Given the description of an element on the screen output the (x, y) to click on. 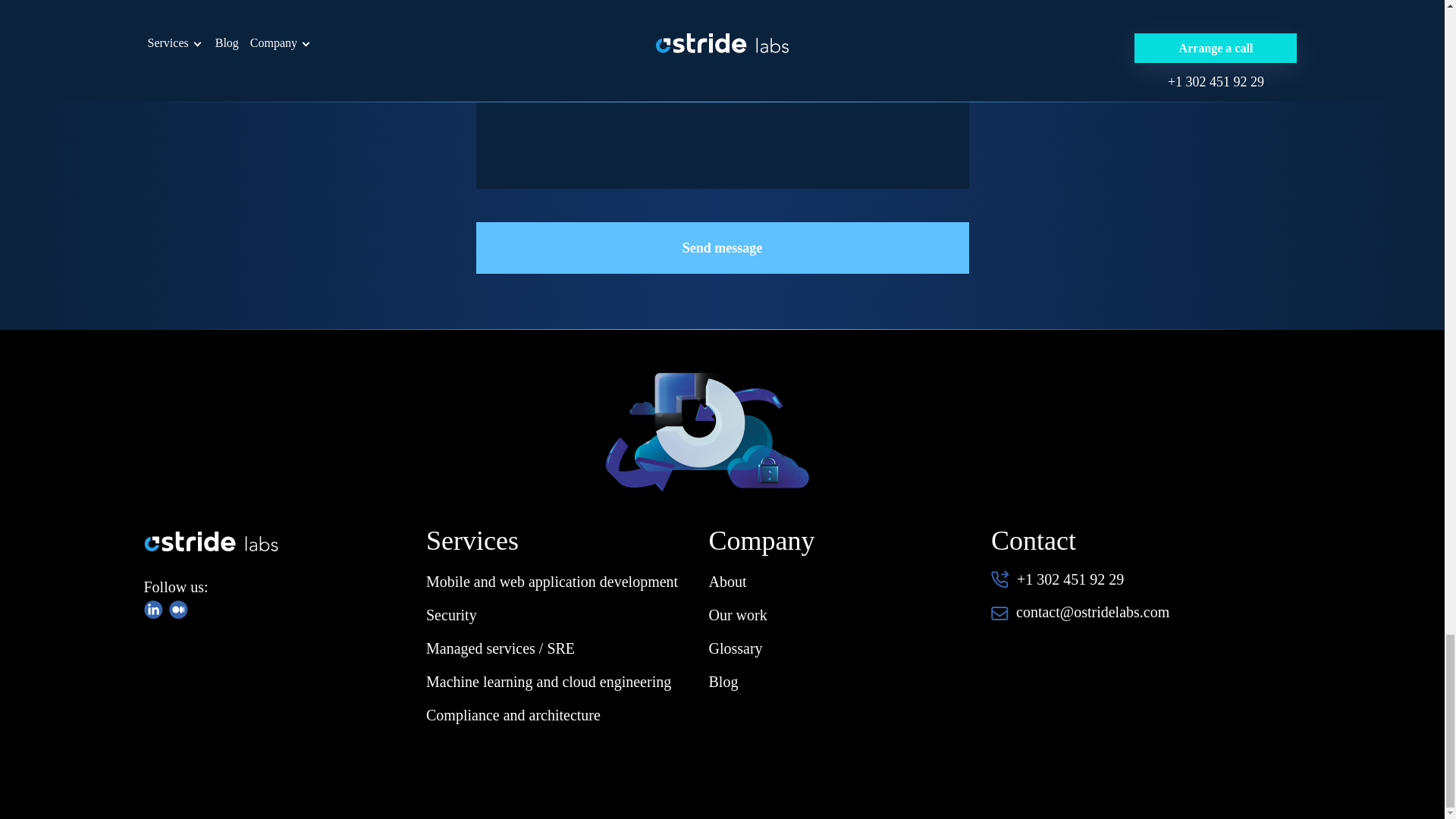
Compliance and architecture (512, 714)
logo-footer (211, 541)
footer-top (698, 432)
Our work (737, 614)
Send message (722, 247)
Mobile and web application development (552, 581)
Send message (722, 247)
About (726, 581)
union (177, 609)
Machine learning and cloud engineering (548, 681)
